Given the description of an element on the screen output the (x, y) to click on. 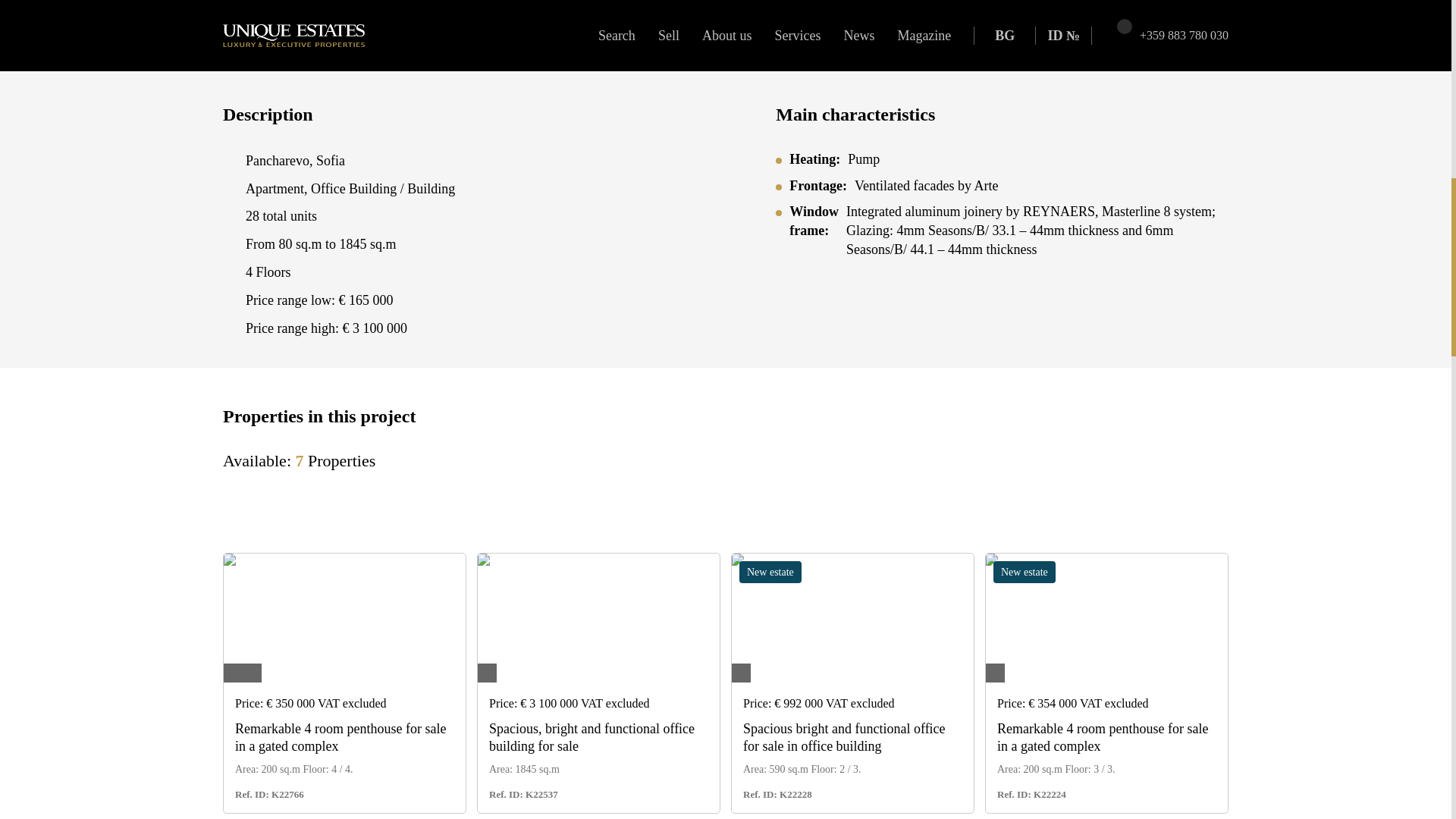
Add to favourites (443, 576)
Add to favourites (951, 576)
Read more (339, 737)
Read more (843, 737)
Read more (591, 737)
Add to favourites (697, 576)
Add to favourites (1205, 576)
